Given the description of an element on the screen output the (x, y) to click on. 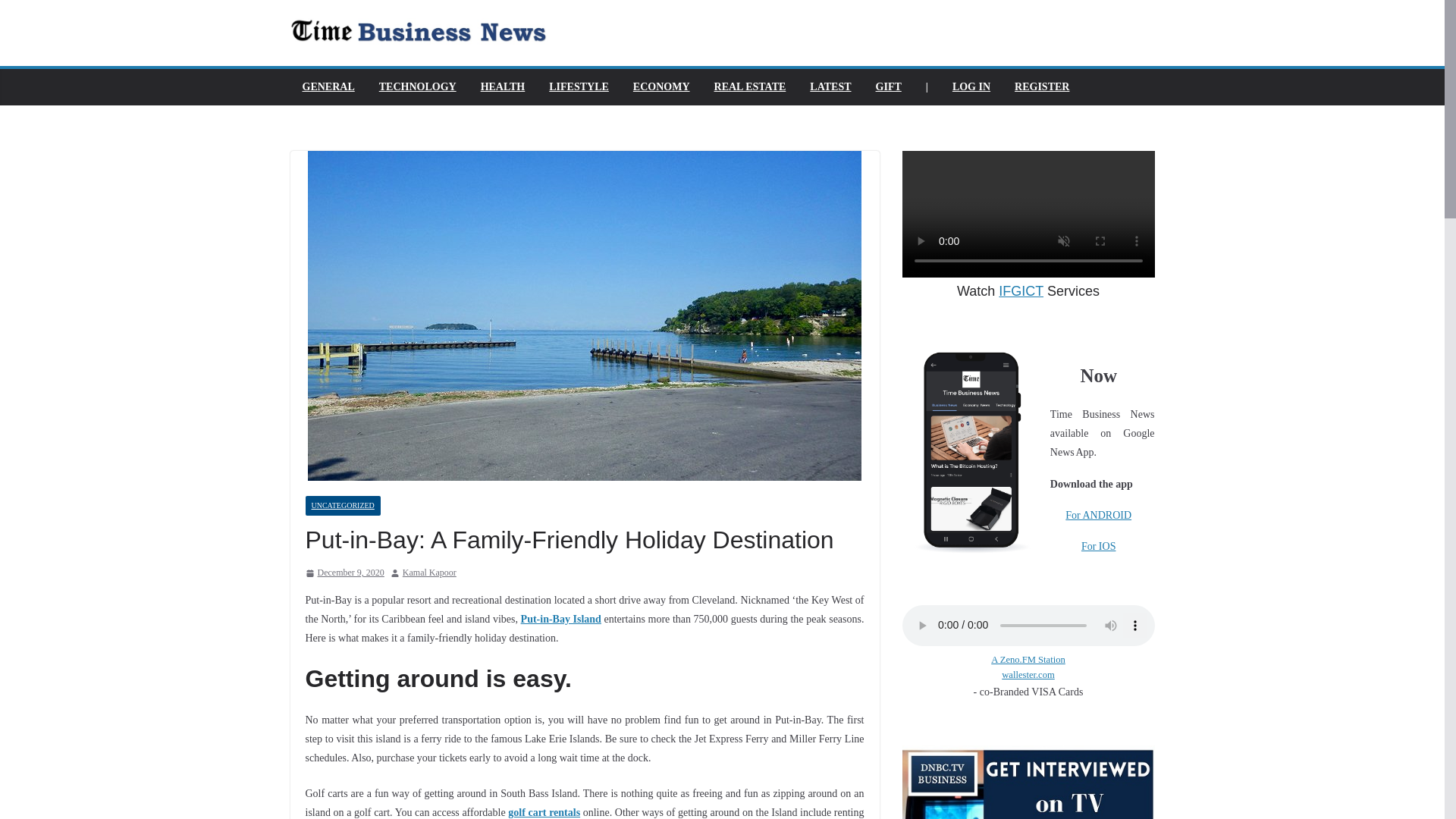
LATEST (829, 86)
3:13 pm (344, 573)
LIFESTYLE (578, 86)
LOG IN (971, 86)
REAL ESTATE (750, 86)
A Zeno.FM Station (1028, 659)
golf cart rentals (543, 812)
REGISTER (1041, 86)
December 9, 2020 (344, 573)
Put-in-Bay Island (561, 618)
Kamal Kapoor (430, 573)
wallester.com (1028, 674)
ECONOMY (661, 86)
For ANDROID (1098, 514)
IFGICT (1020, 290)
